Given the description of an element on the screen output the (x, y) to click on. 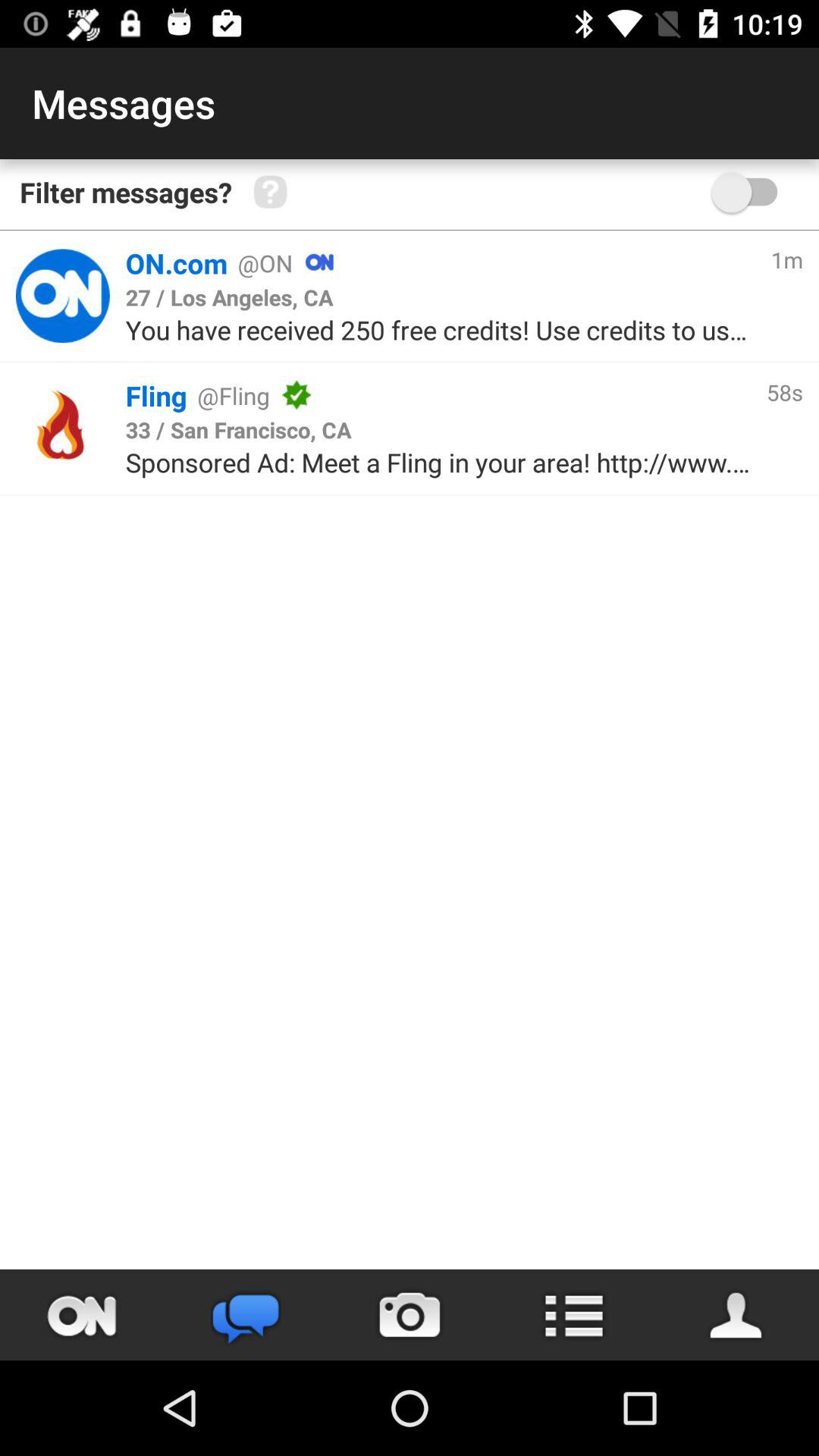
press item next to the 58s icon (238, 429)
